Given the description of an element on the screen output the (x, y) to click on. 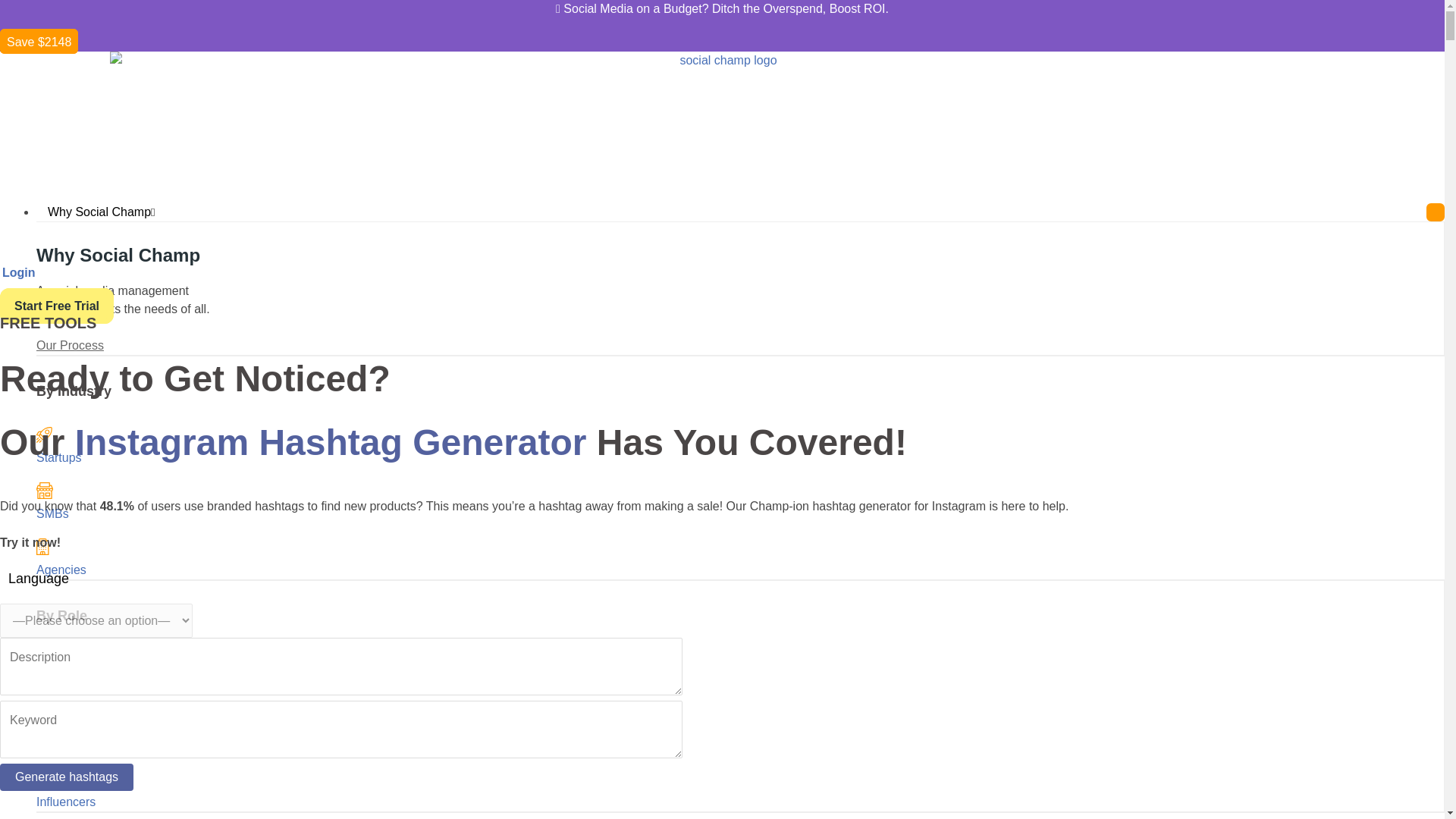
Generate hashtags (66, 777)
Marketers (63, 744)
Why Social Champ (101, 211)
SMBs (52, 513)
Influencers (66, 801)
Enterpreneurs (74, 685)
Agencies (60, 569)
Startups (58, 457)
Our Process (69, 345)
